Given the description of an element on the screen output the (x, y) to click on. 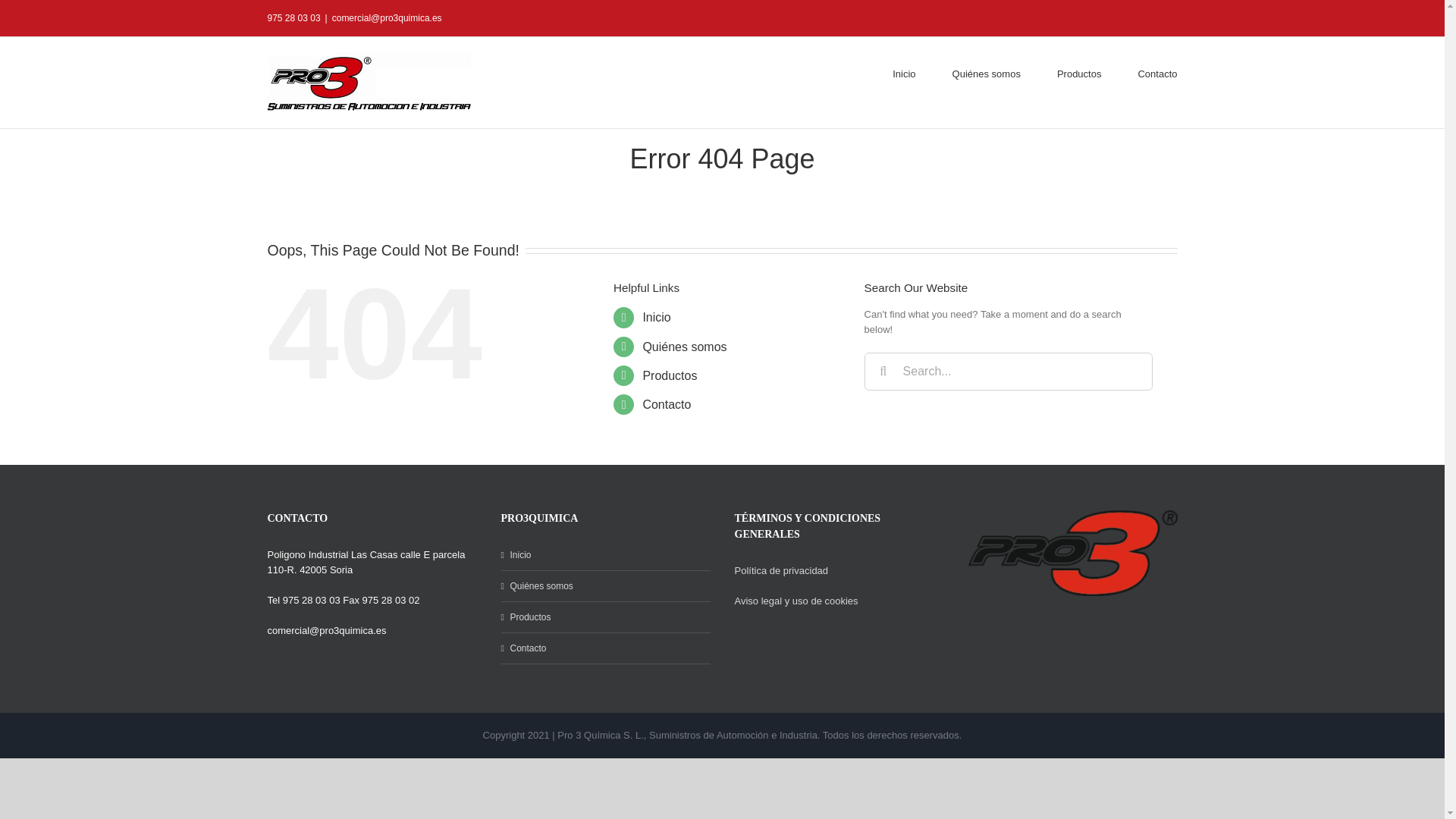
Productos (669, 375)
Contacto (605, 648)
Contacto (666, 404)
Productos (605, 616)
Inicio (605, 554)
Inicio (655, 317)
Aviso legal y uso de cookies (795, 600)
